Given the description of an element on the screen output the (x, y) to click on. 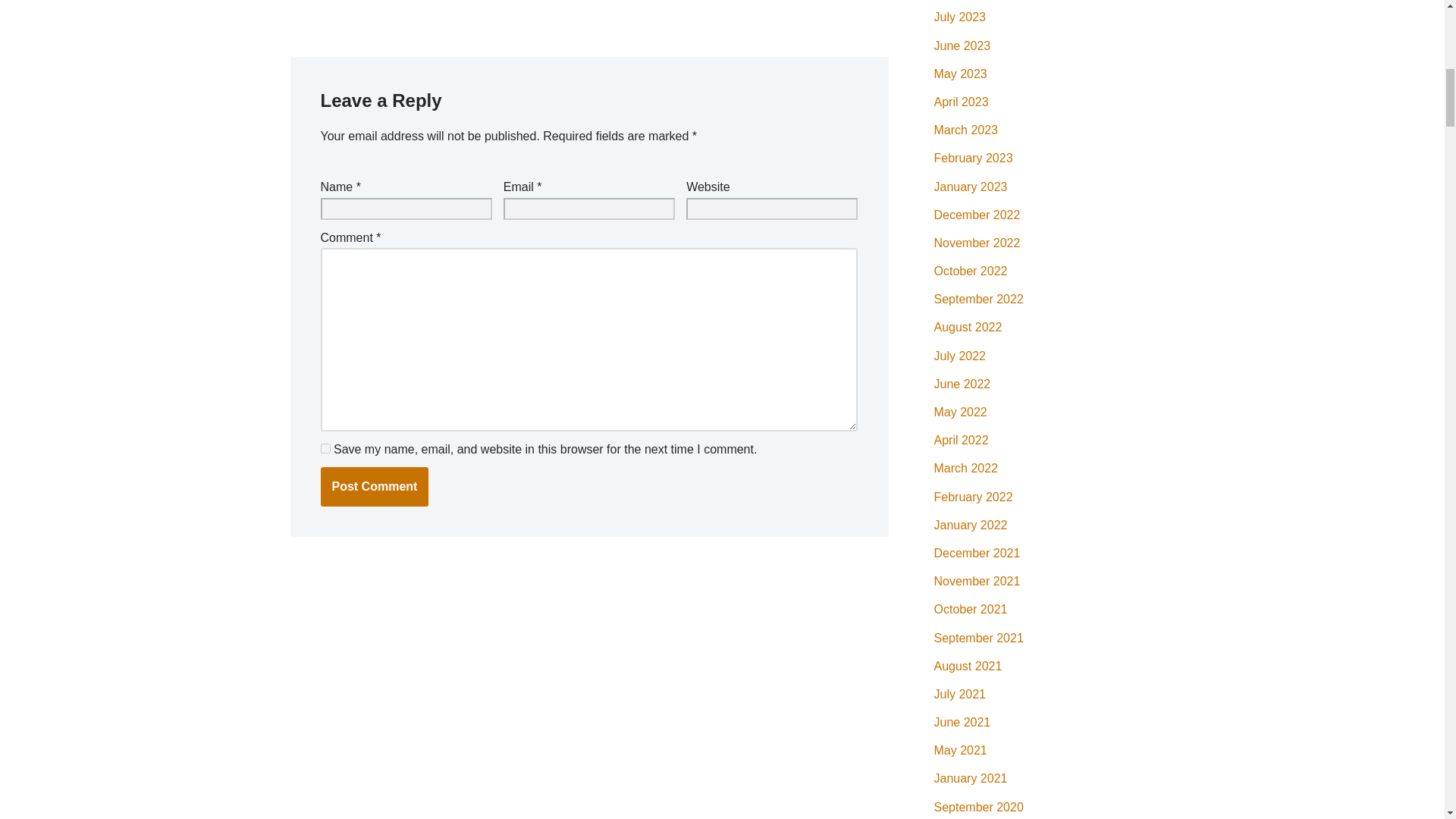
October 2022 (970, 270)
July 2022 (960, 355)
June 2023 (962, 45)
November 2022 (977, 242)
Post Comment (374, 486)
yes (325, 448)
May 2023 (960, 73)
July 2023 (960, 16)
March 2023 (966, 129)
April 2023 (961, 101)
